Given the description of an element on the screen output the (x, y) to click on. 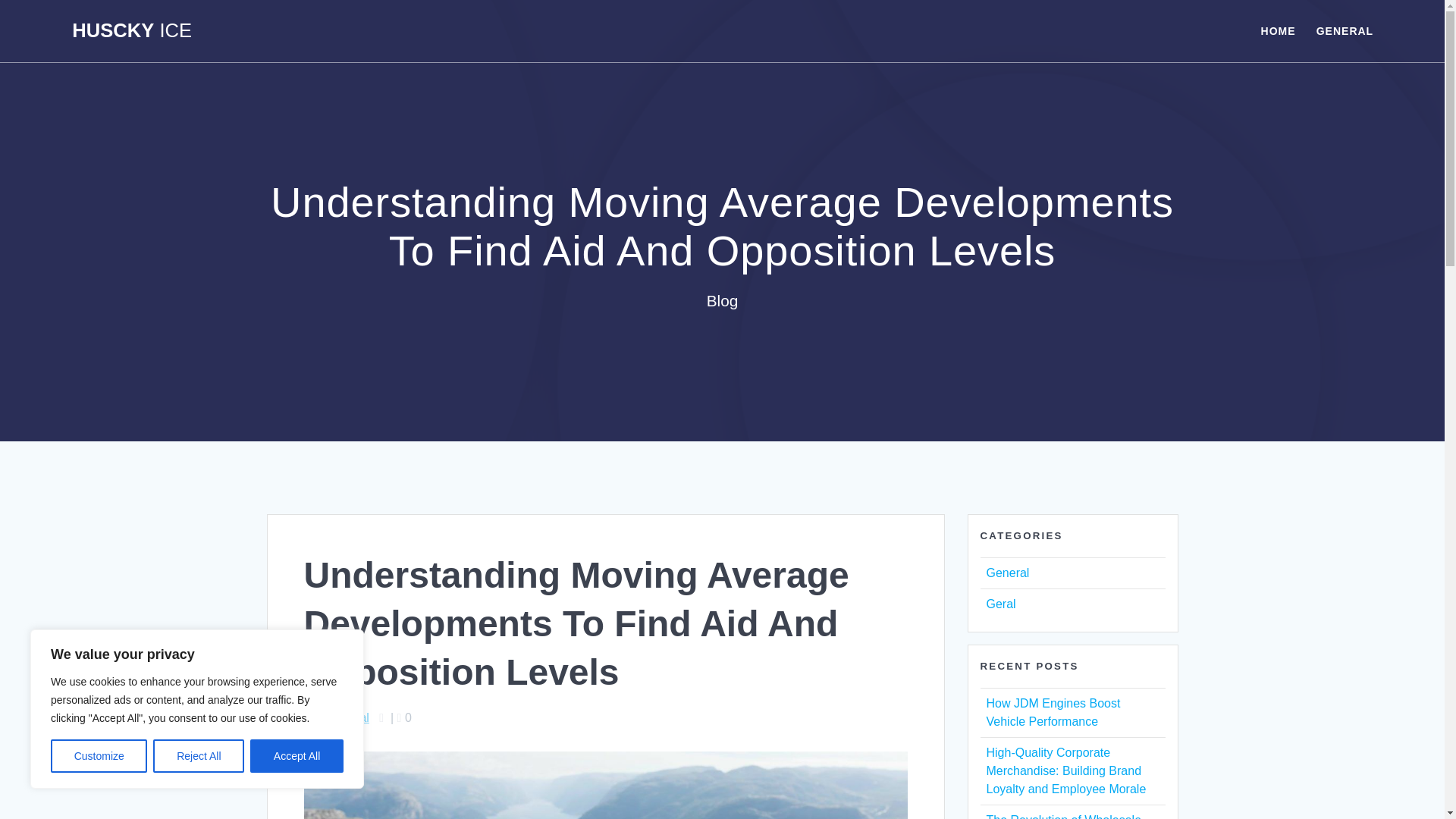
HUSCKY ICE (131, 30)
Customize (98, 756)
Reject All (198, 756)
Geral (999, 603)
General (1007, 572)
General (347, 717)
HOME (1277, 30)
The Revolution of Wholesale Kitchen Equipment (1063, 816)
How JDM Engines Boost Vehicle Performance (1052, 712)
